Given the description of an element on the screen output the (x, y) to click on. 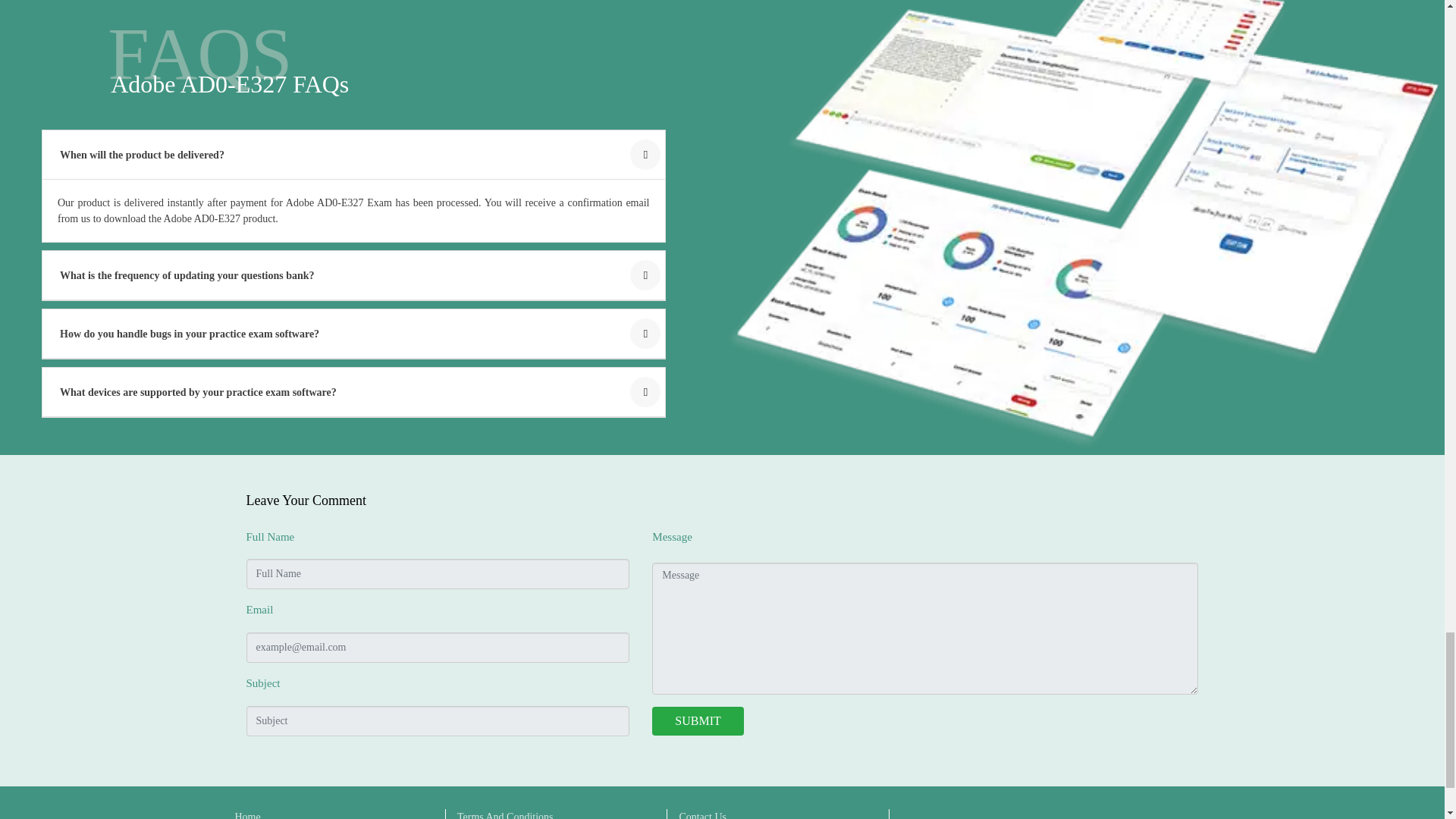
SUBMIT (697, 720)
Terms And Conditions (505, 814)
Home (247, 814)
